Given the description of an element on the screen output the (x, y) to click on. 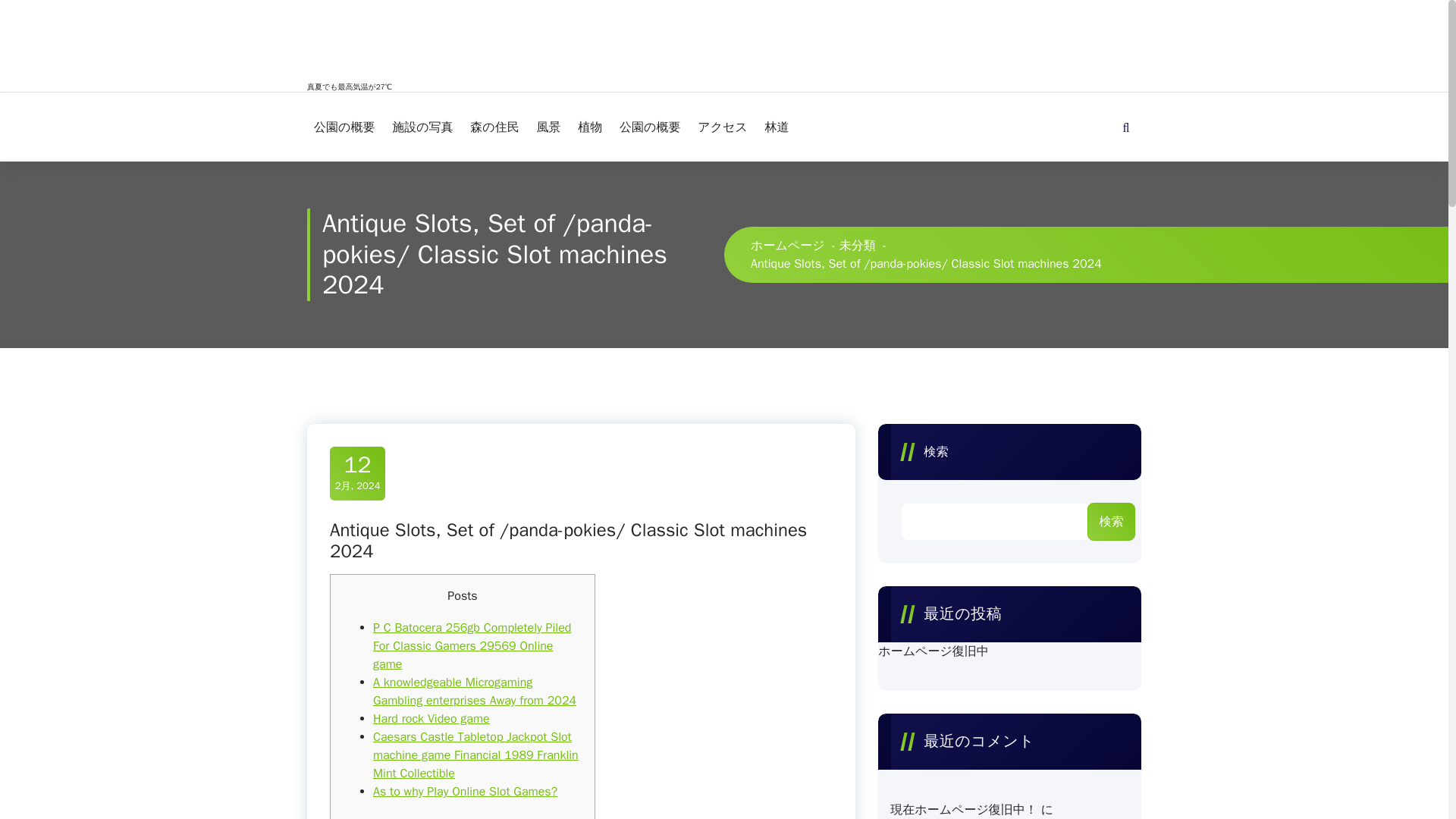
Appointo (1117, 784)
As to why Play Online Slot Games? (464, 791)
Hard rock Video game (430, 718)
